Given the description of an element on the screen output the (x, y) to click on. 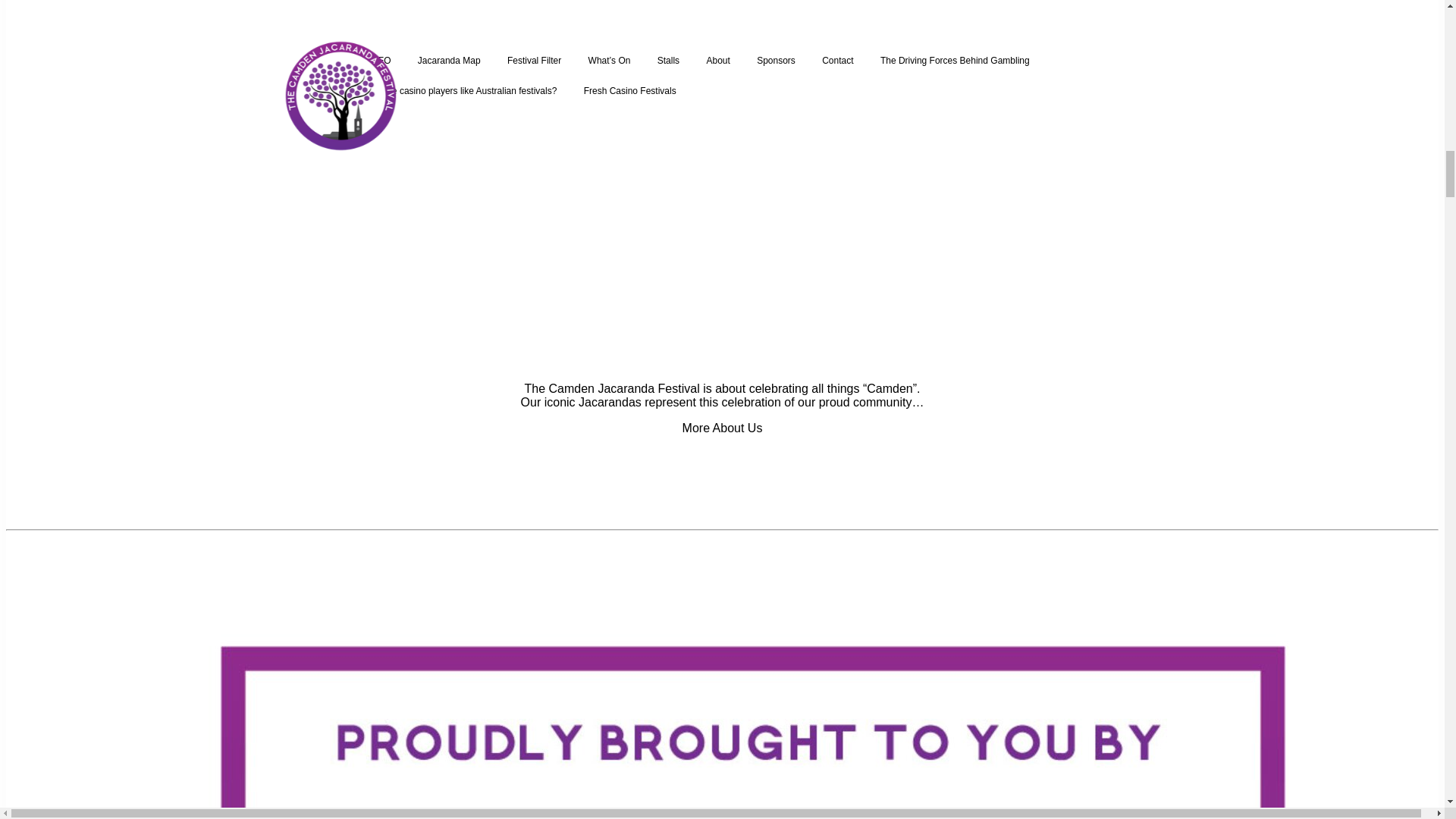
More About Us (722, 427)
